Given the description of an element on the screen output the (x, y) to click on. 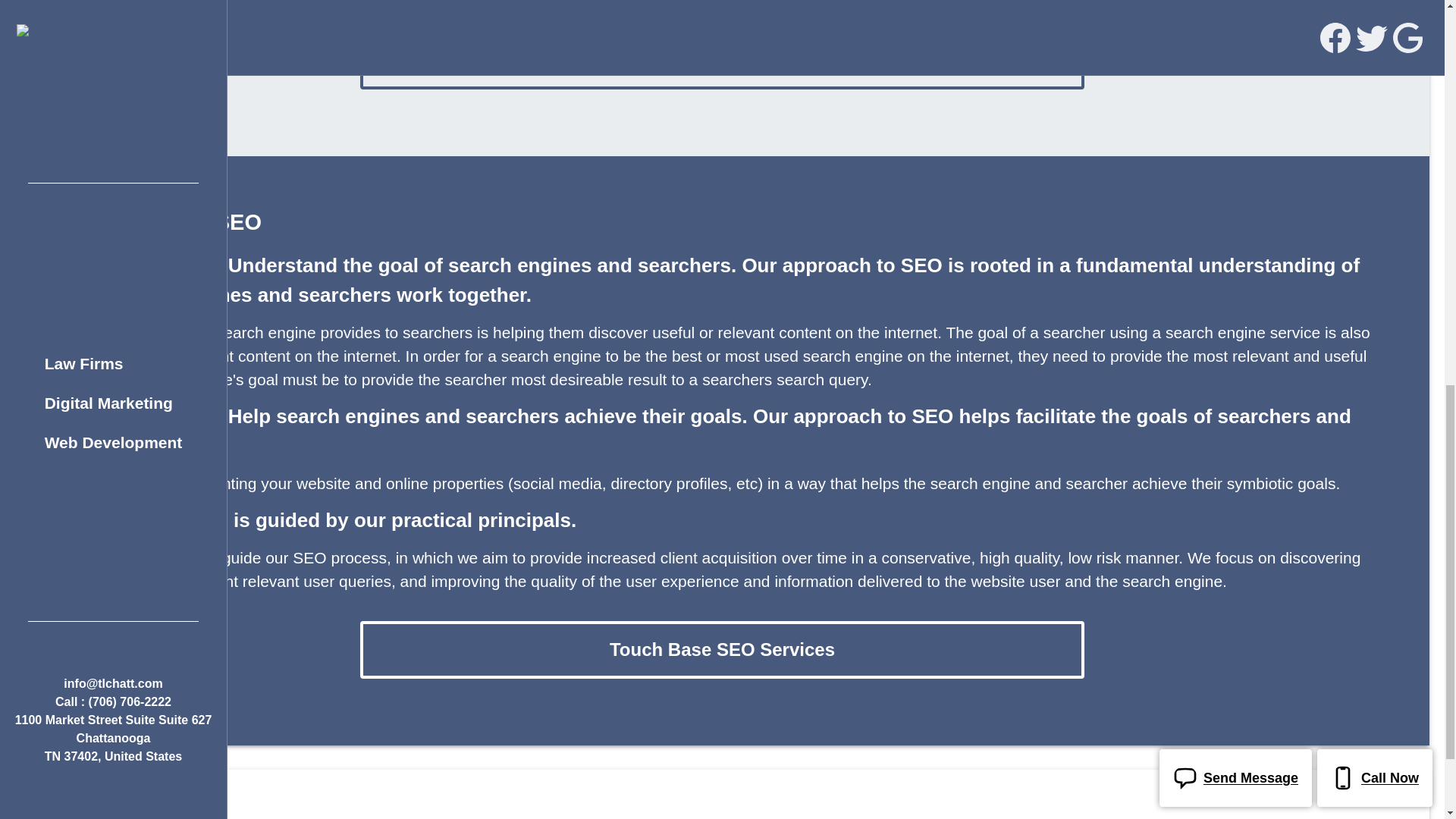
Touch Base SEO Services (721, 649)
Touch Base SEO Services (721, 60)
